Given the description of an element on the screen output the (x, y) to click on. 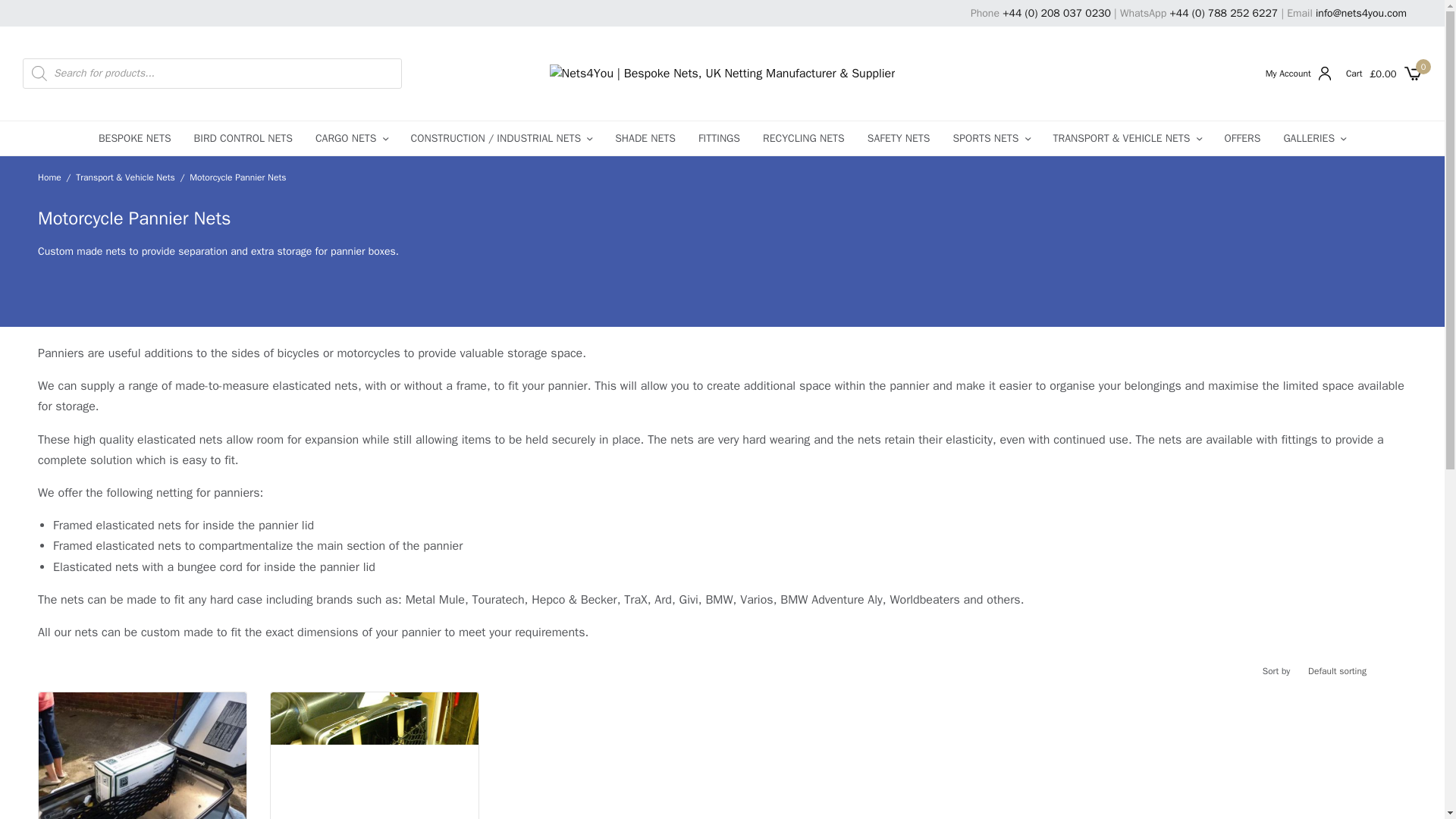
My Account (1297, 72)
SAFETY NETS (898, 138)
My Account (1297, 72)
RECYCLING NETS (803, 138)
Metal Framed Elasticated Net for Metal Pannier 43cm x 36cm (374, 755)
CARGO NETS (351, 138)
SHADE NETS (644, 138)
FITTINGS (718, 138)
BIRD CONTROL NETS (242, 138)
